Given the description of an element on the screen output the (x, y) to click on. 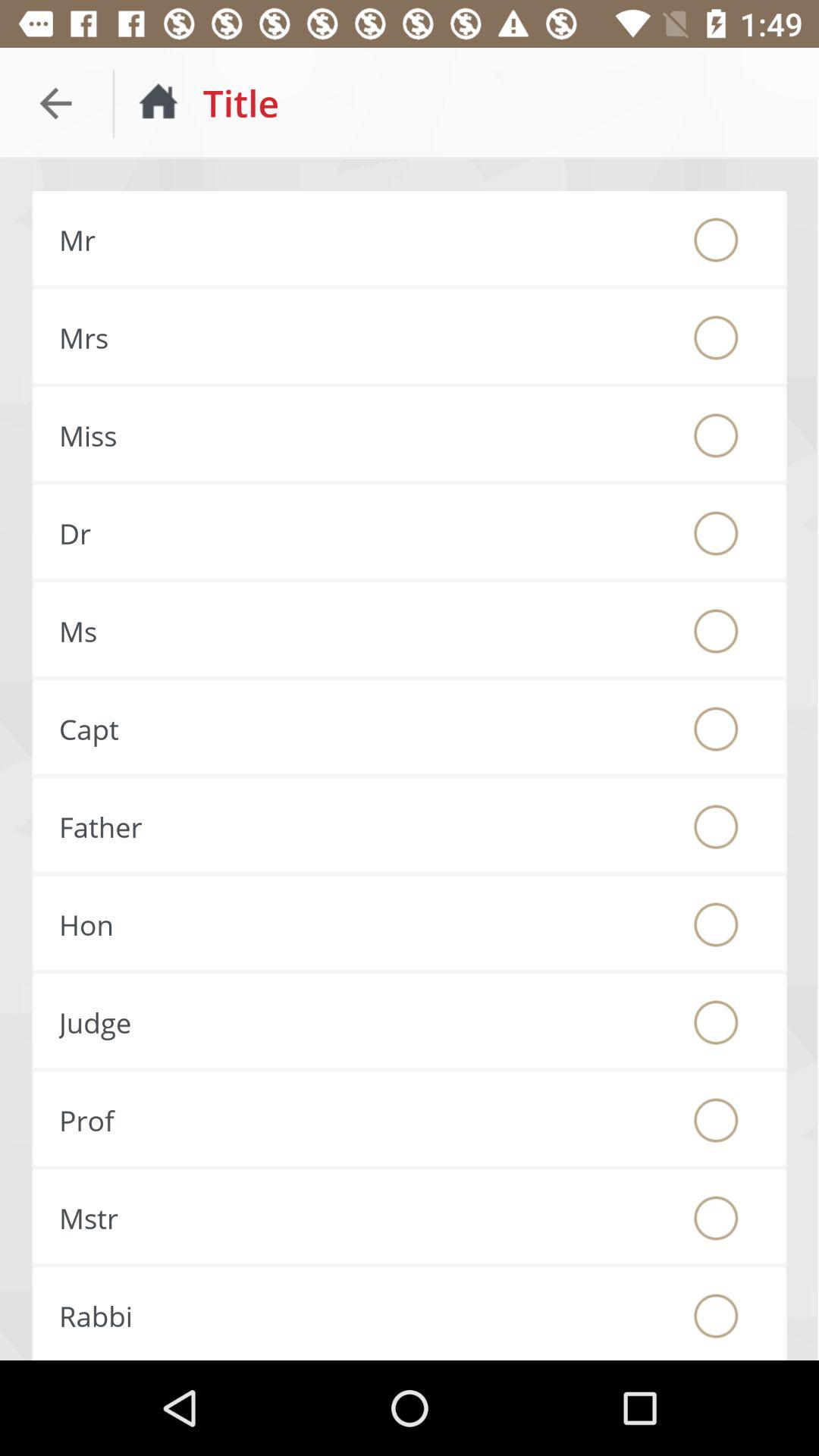
this will fill in the radio button (715, 1022)
